Given the description of an element on the screen output the (x, y) to click on. 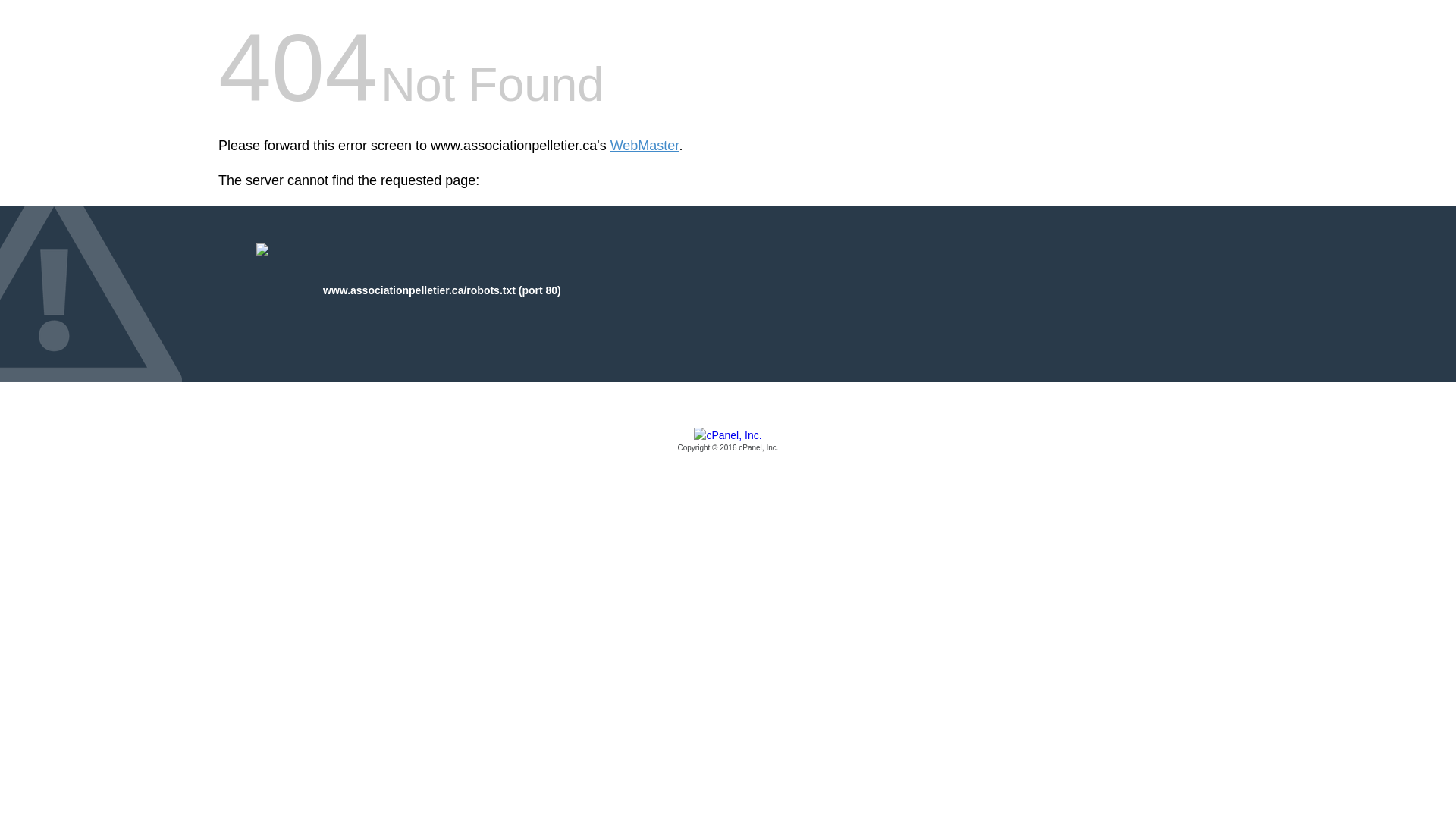
WebMaster Element type: text (644, 145)
